Given the description of an element on the screen output the (x, y) to click on. 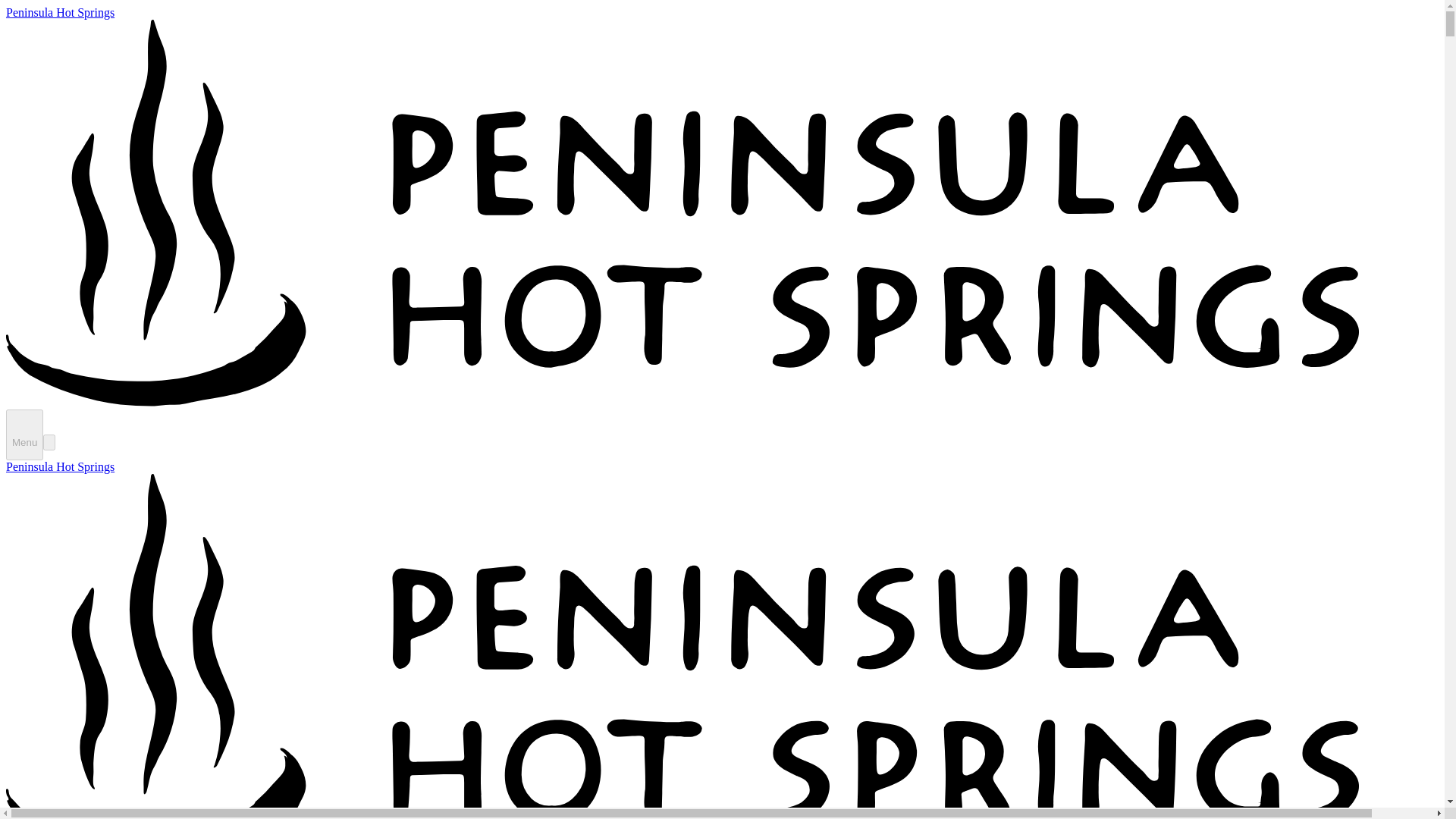
Menu (24, 434)
